Given the description of an element on the screen output the (x, y) to click on. 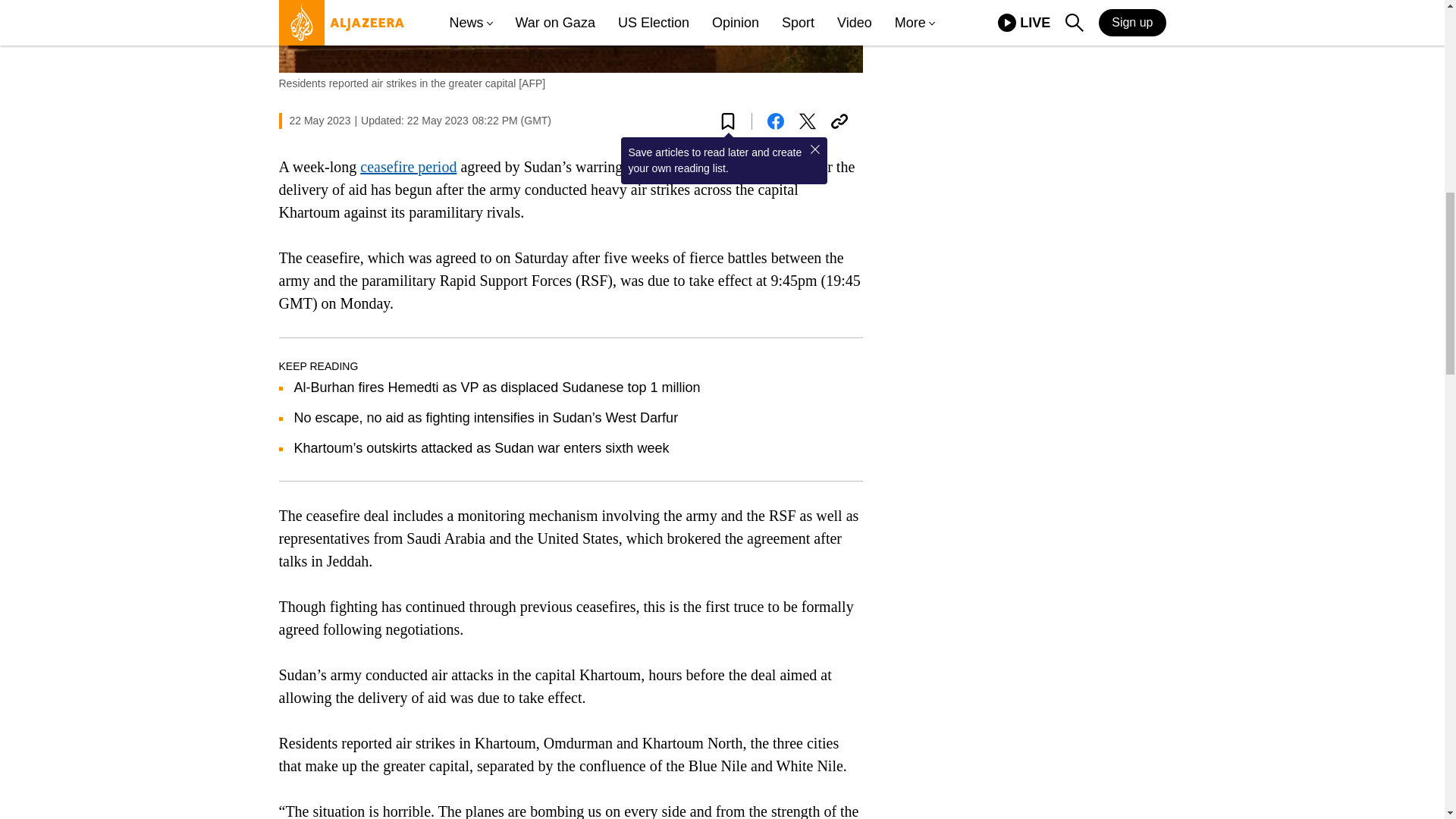
facebook (775, 121)
ceasefire period (408, 166)
facebook (775, 121)
copylink (839, 121)
copylink (839, 121)
twitter (807, 121)
Close Tooltip (814, 149)
twitter (807, 121)
